Given the description of an element on the screen output the (x, y) to click on. 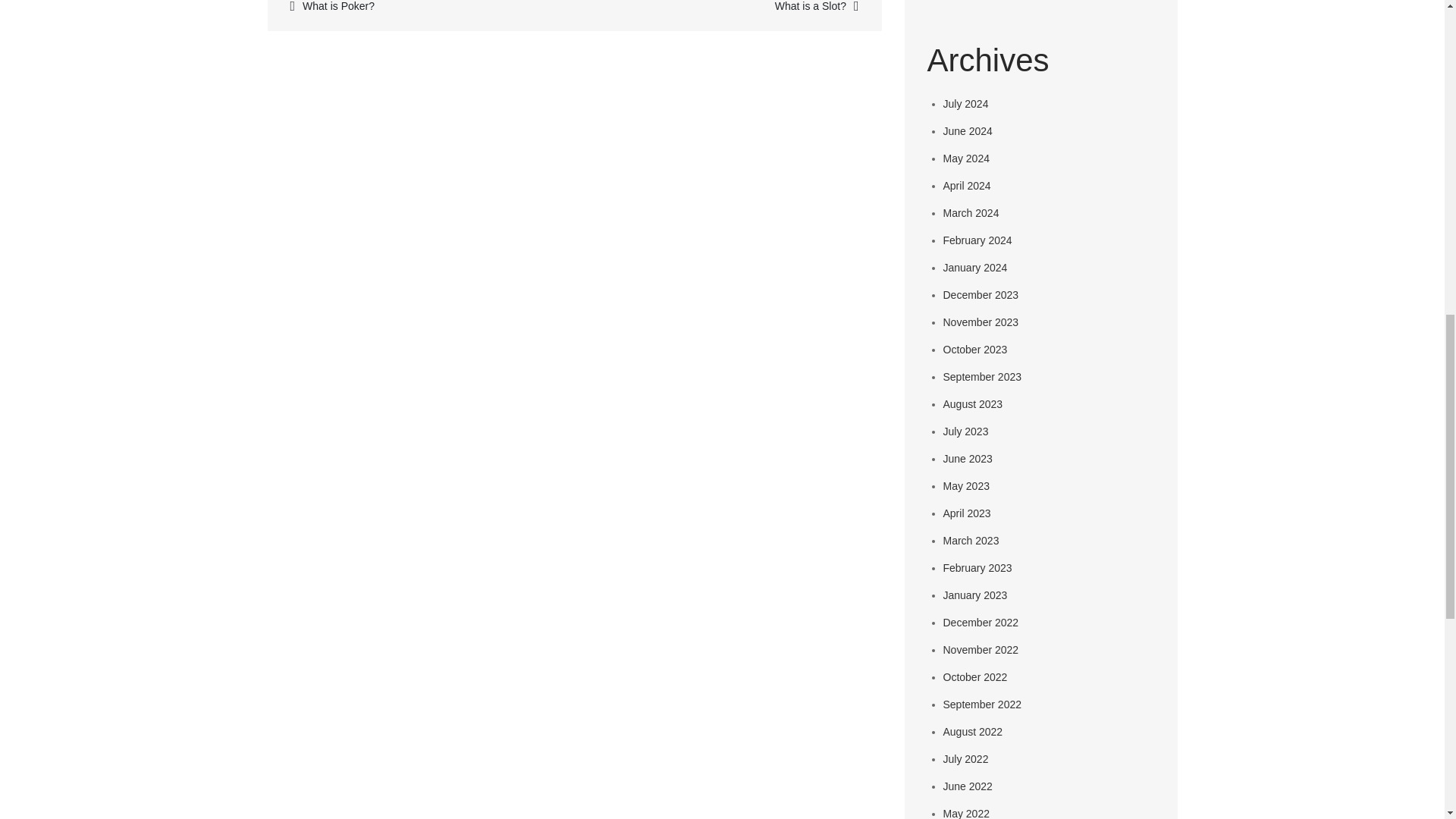
September 2023 (982, 377)
What is a Slot? (725, 7)
October 2023 (975, 349)
July 2024 (965, 103)
November 2022 (981, 649)
June 2024 (967, 131)
January 2024 (975, 267)
February 2023 (977, 567)
March 2023 (970, 540)
April 2024 (967, 185)
July 2023 (965, 431)
What is Poker? (421, 7)
August 2023 (973, 404)
December 2023 (981, 295)
February 2024 (977, 240)
